Given the description of an element on the screen output the (x, y) to click on. 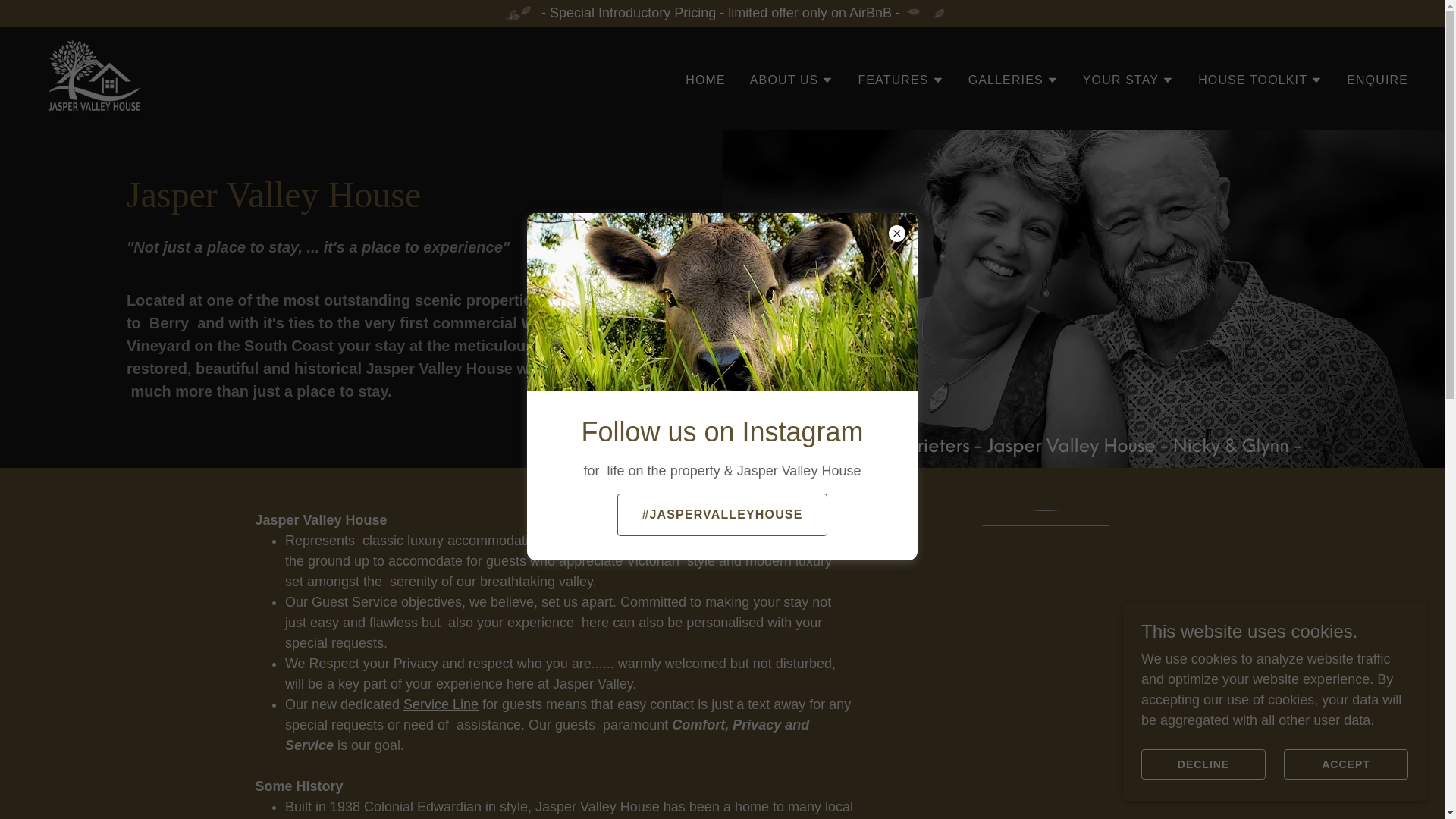
YOUR STAY (1128, 80)
ENQUIRE (1377, 80)
ABOUT US (791, 80)
jvhouse.com.au  (92, 77)
FEATURES (900, 80)
HOME (705, 80)
HOUSE TOOLKIT (1260, 80)
GALLERIES (1013, 80)
